Given the description of an element on the screen output the (x, y) to click on. 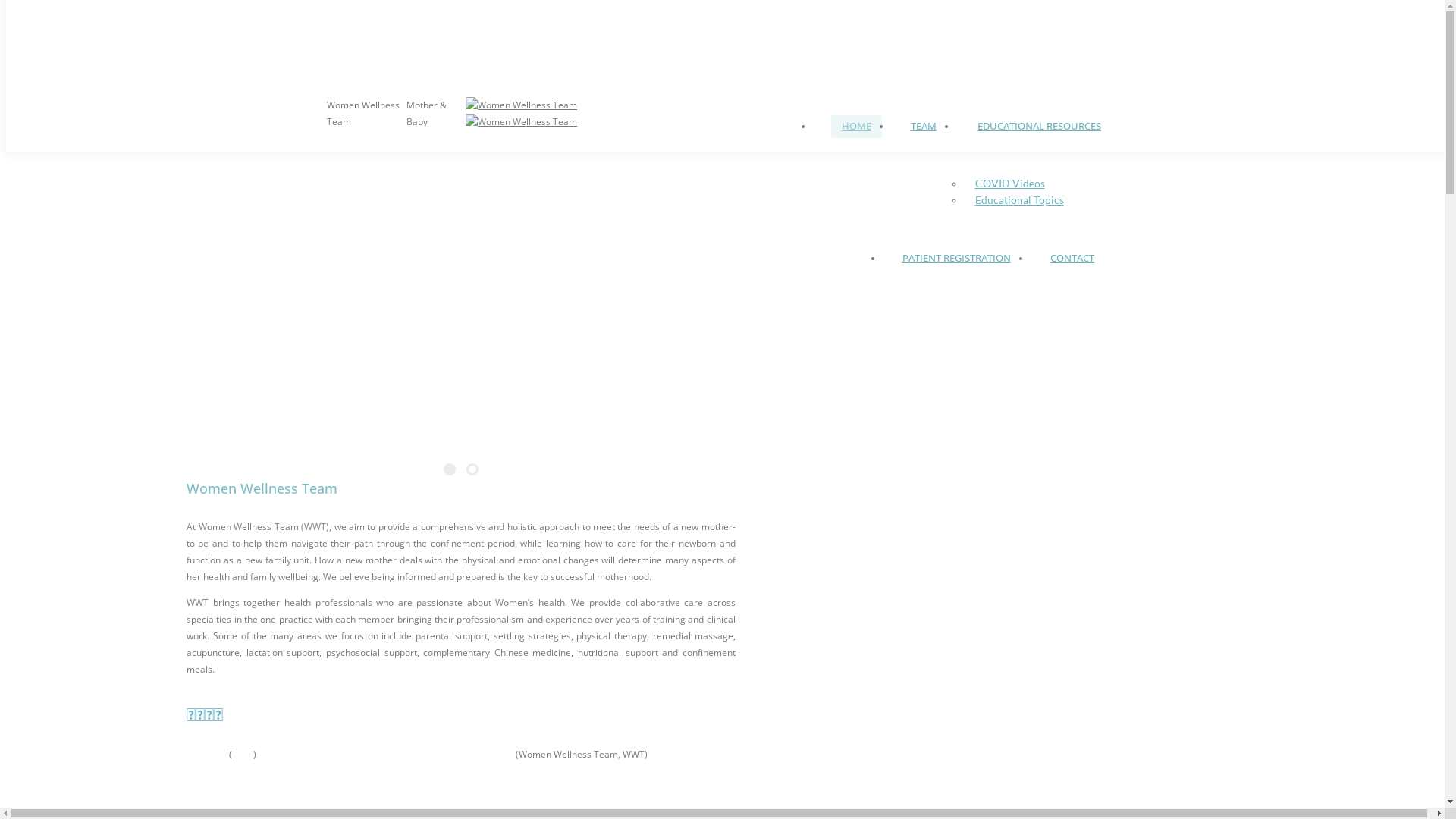
CONTACT Element type: text (1071, 258)
Educational Topics Element type: text (1019, 200)
Facebook page opens in new window Element type: text (315, 63)
HOME Element type: text (856, 126)
TEAM Element type: text (922, 126)
PATIENT REGISTRATION Element type: text (956, 258)
MyO&G - WEBLINK Element type: text (455, 39)
MEMBER LOGIN Element type: text (354, 39)
Skip to content Element type: text (5, 5)
EDUCATIONAL RESOURCES Element type: text (1038, 126)
YouTube page opens in new window Element type: text (356, 63)
COVID Videos Element type: text (1009, 183)
Instagram page opens in new window Element type: text (335, 63)
